Given the description of an element on the screen output the (x, y) to click on. 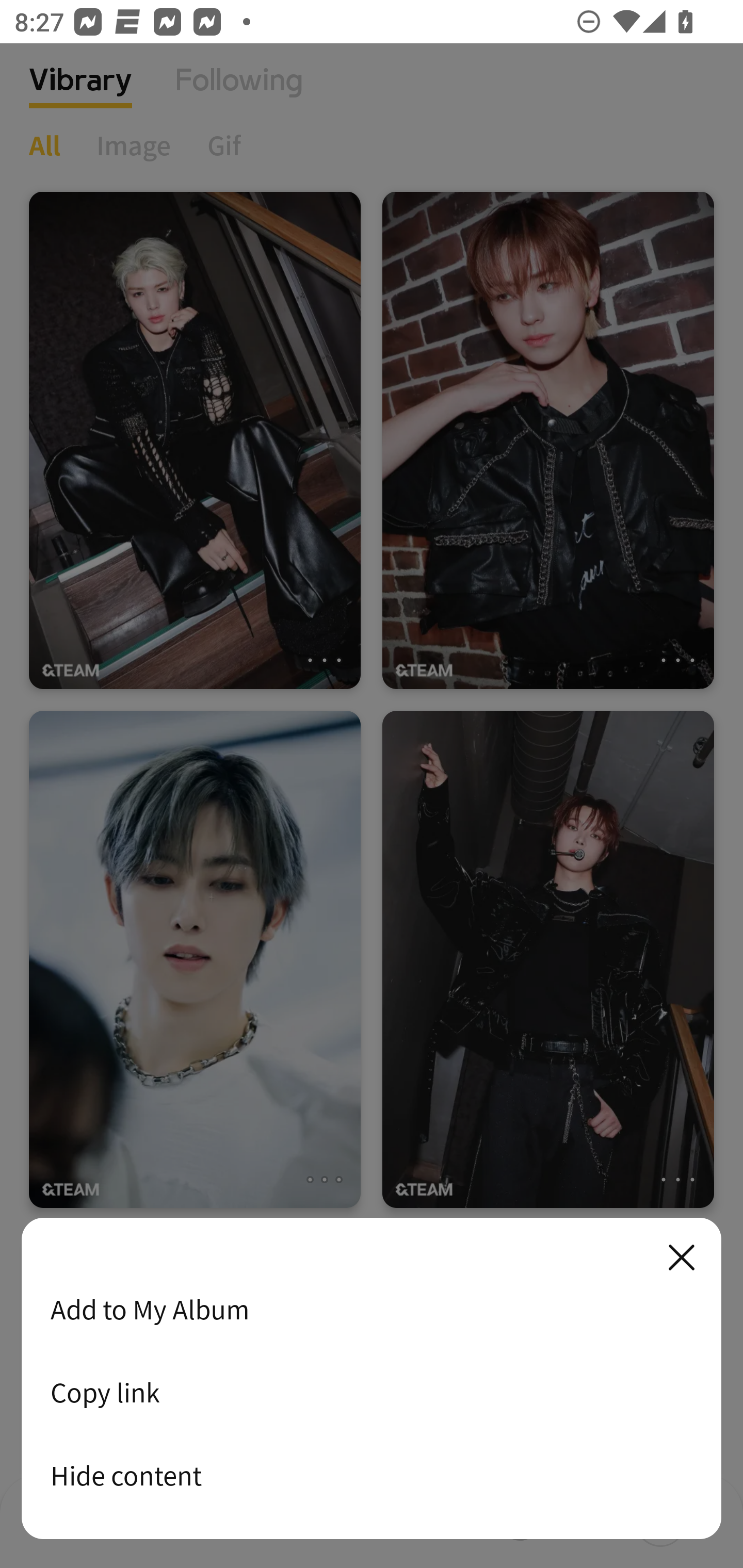
Add to My Album Copy link Hide content (371, 1378)
Add to My Album (371, 1308)
Copy link (371, 1391)
Hide content (371, 1474)
